Given the description of an element on the screen output the (x, y) to click on. 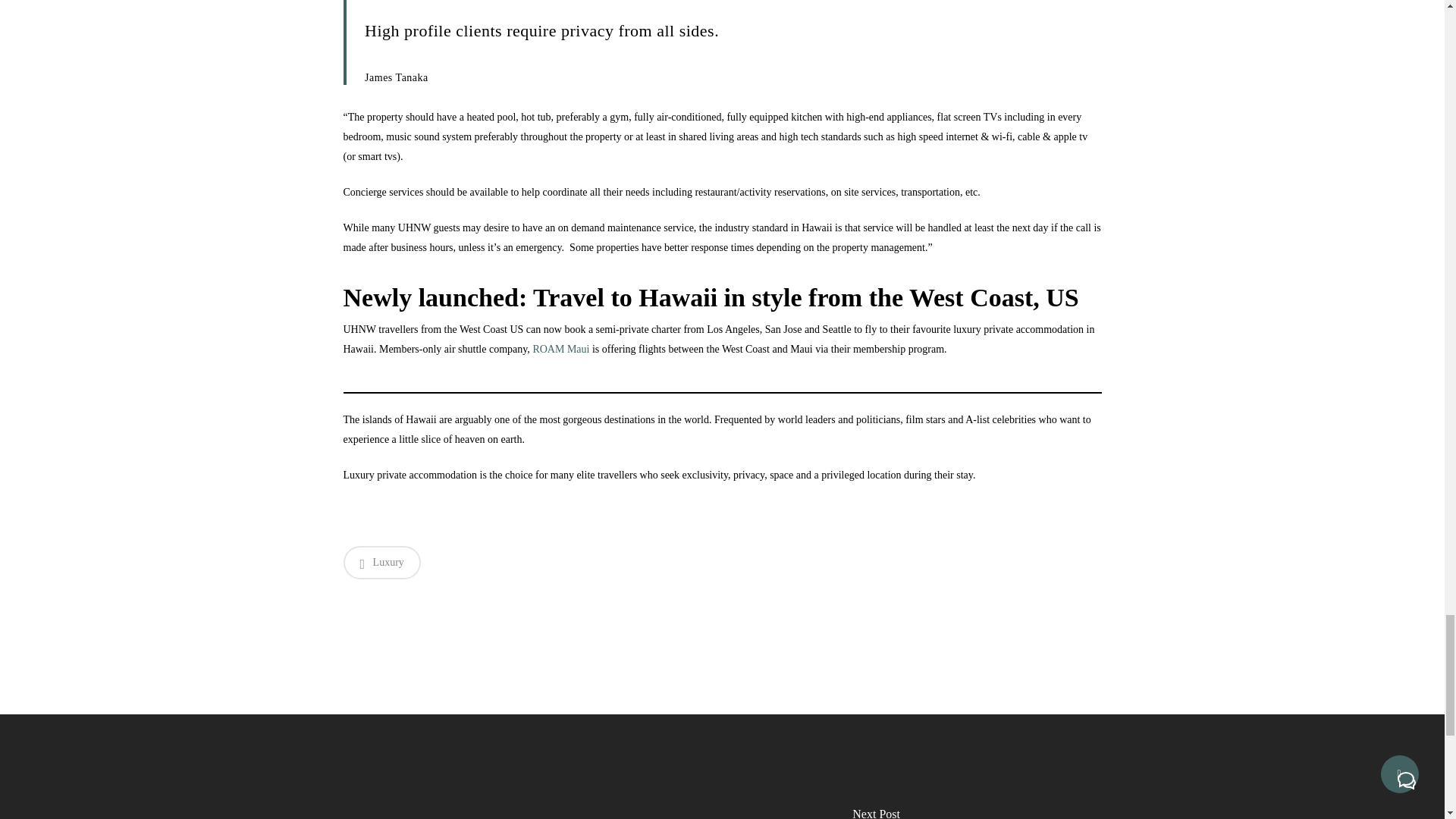
Luxury (381, 562)
ROAM Maui (560, 348)
